Given the description of an element on the screen output the (x, y) to click on. 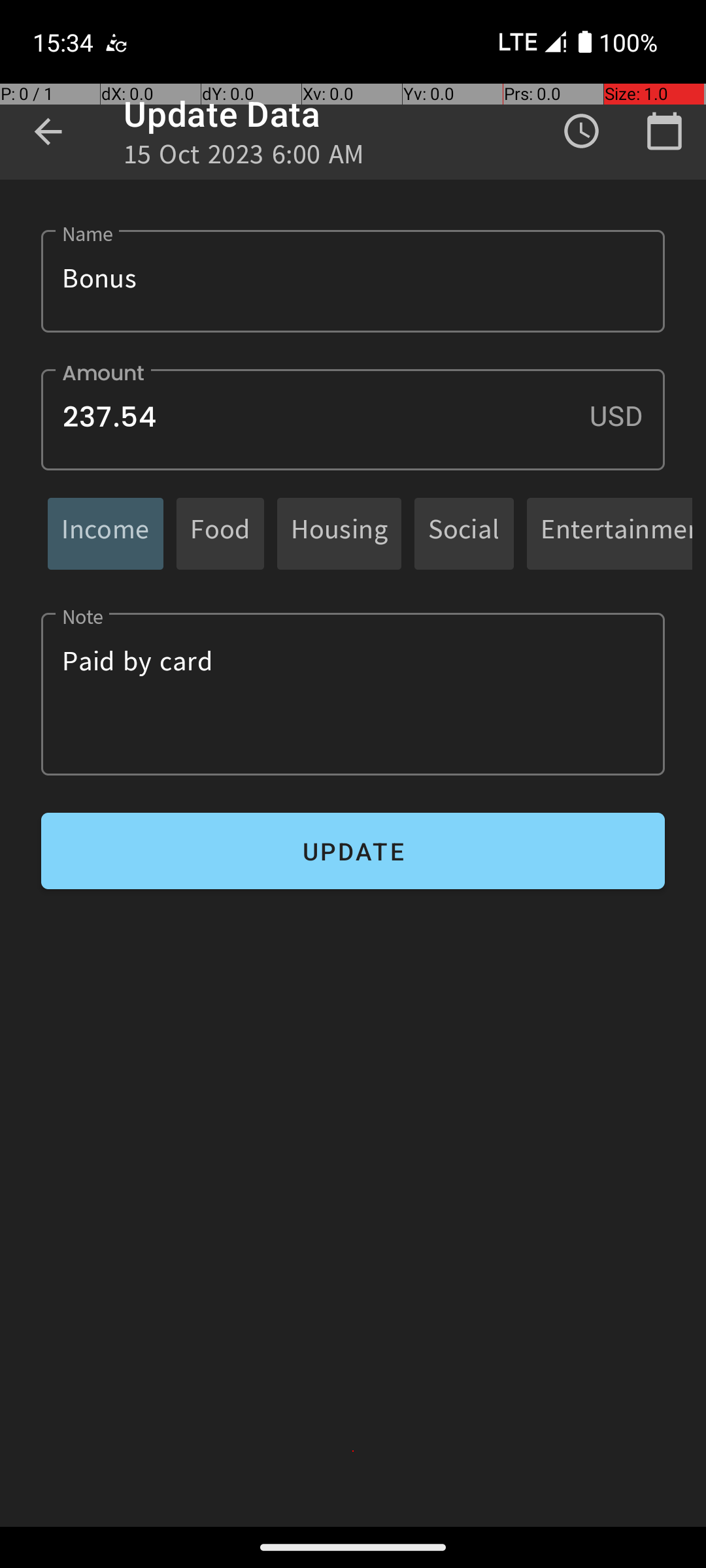
15 Oct 2023 6:00 AM Element type: android.widget.TextView (243, 157)
Bonus Element type: android.widget.EditText (352, 280)
237.54 Element type: android.widget.EditText (352, 419)
